Given the description of an element on the screen output the (x, y) to click on. 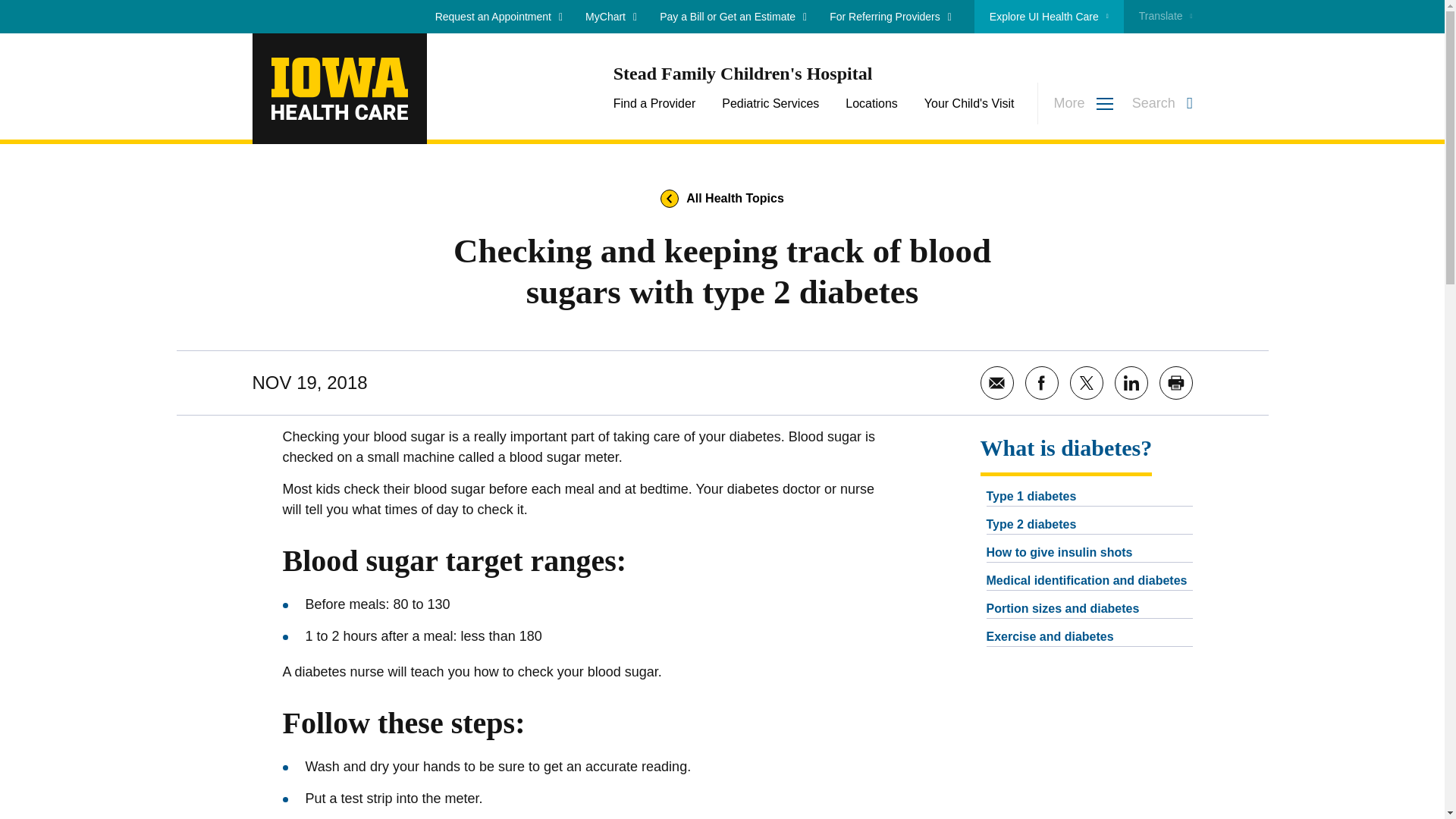
Pediatric Services (770, 103)
Locations (871, 103)
MyChart (611, 16)
Find a Provider (653, 103)
More (1074, 103)
Skip to main content (721, 9)
Request an Appointment (498, 16)
Pay a Bill or Get an Estimate (732, 16)
For Referring Providers (890, 16)
Your Child's Visit (969, 103)
